Given the description of an element on the screen output the (x, y) to click on. 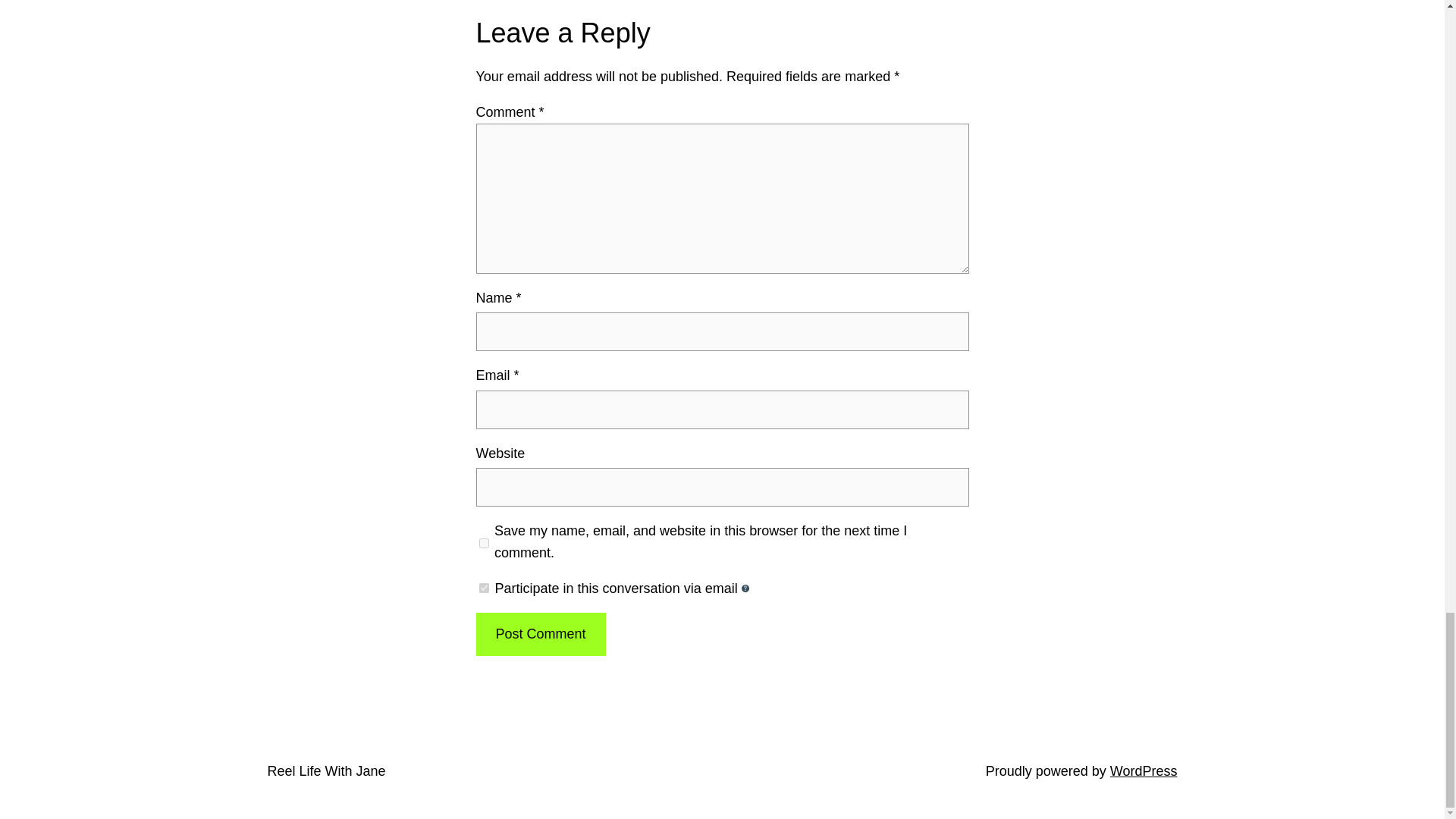
WordPress (1143, 770)
Post Comment (540, 634)
Post Comment (540, 634)
Reel Life With Jane (325, 770)
1 (484, 587)
